Given the description of an element on the screen output the (x, y) to click on. 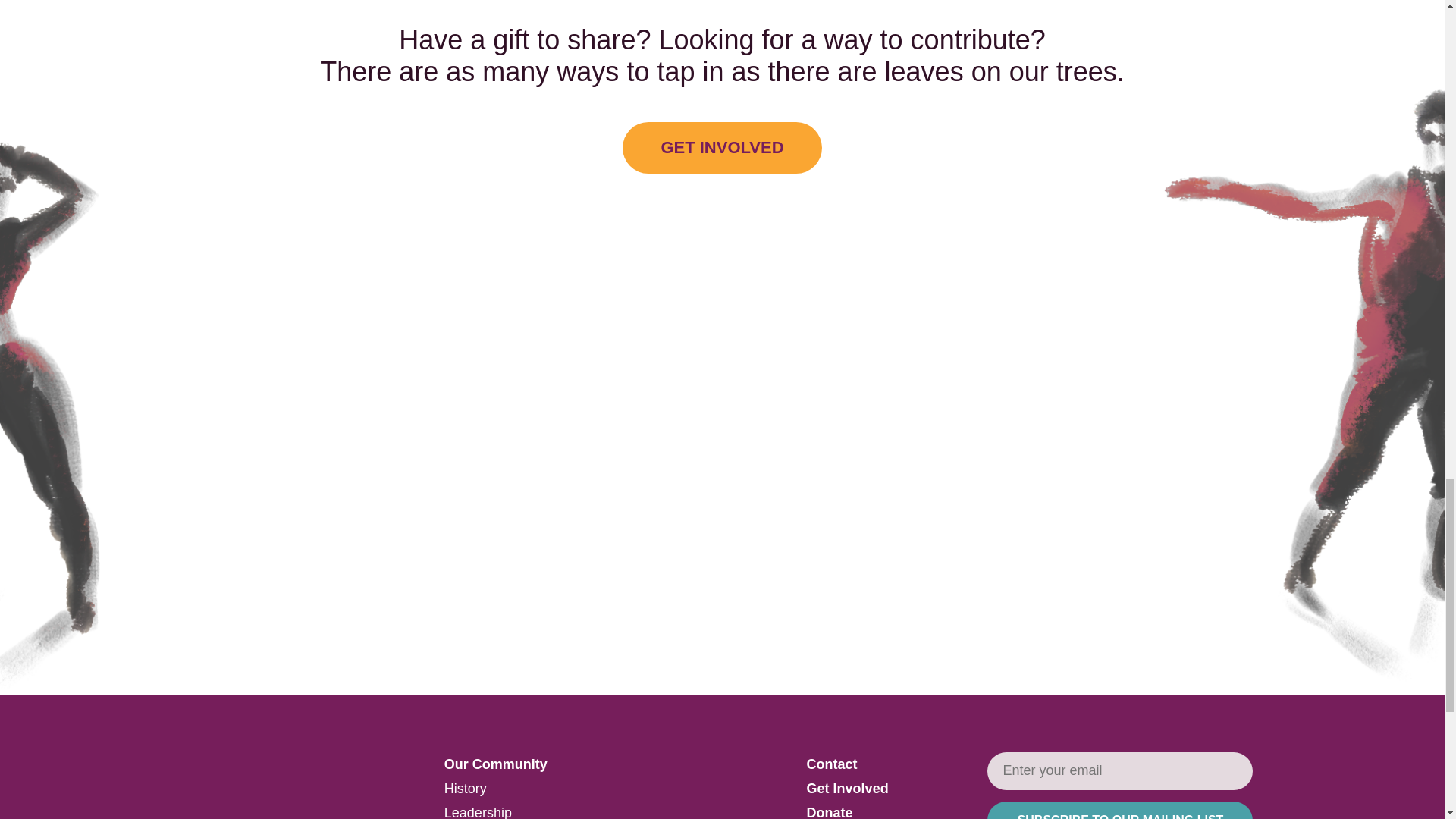
Our Community (495, 764)
Contact (831, 764)
GET INVOLVED (722, 146)
Donate (829, 812)
Get Involved (847, 788)
History (465, 788)
Leadership (478, 812)
